Given the description of an element on the screen output the (x, y) to click on. 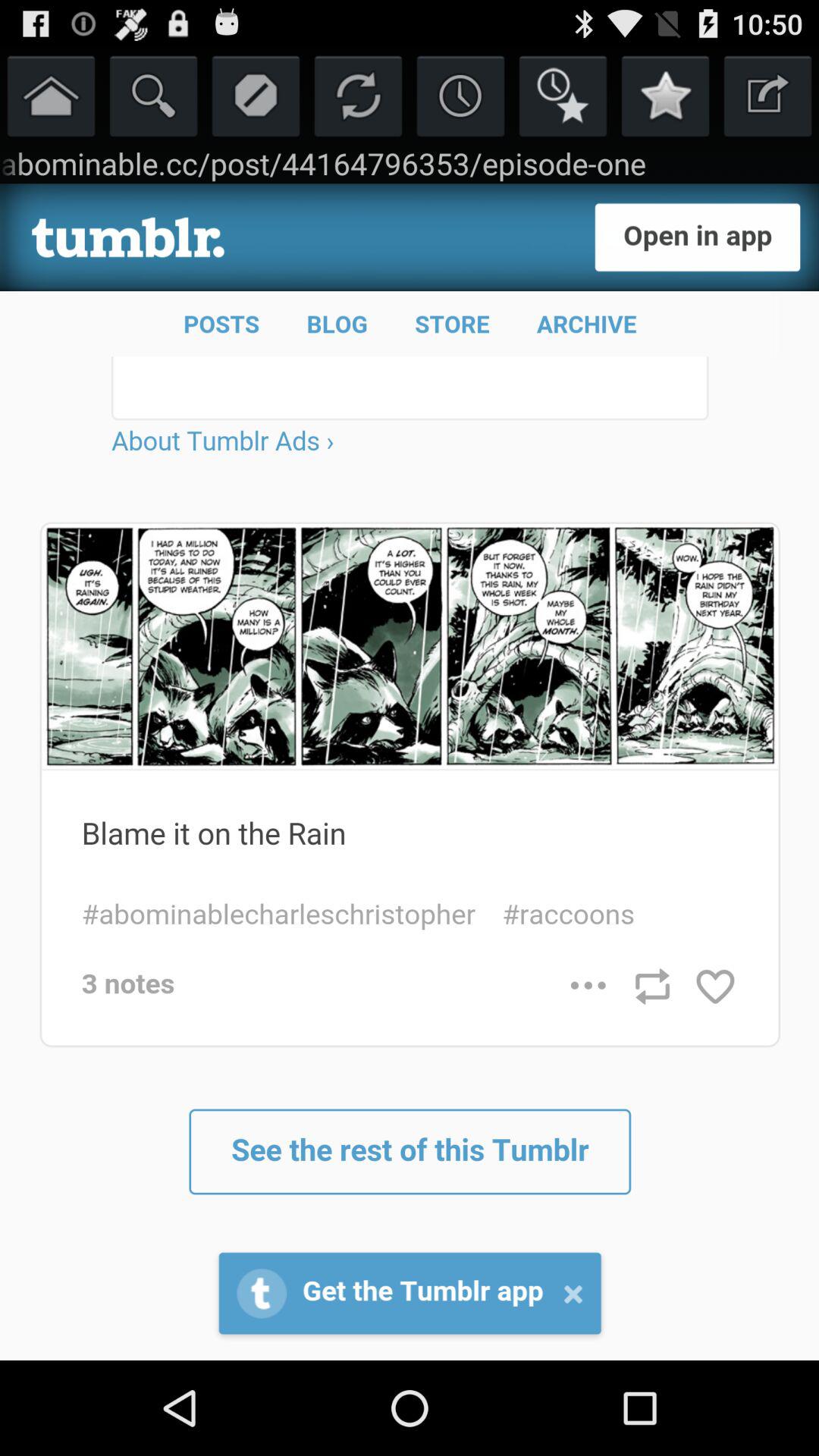
schedule time (460, 95)
